Given the description of an element on the screen output the (x, y) to click on. 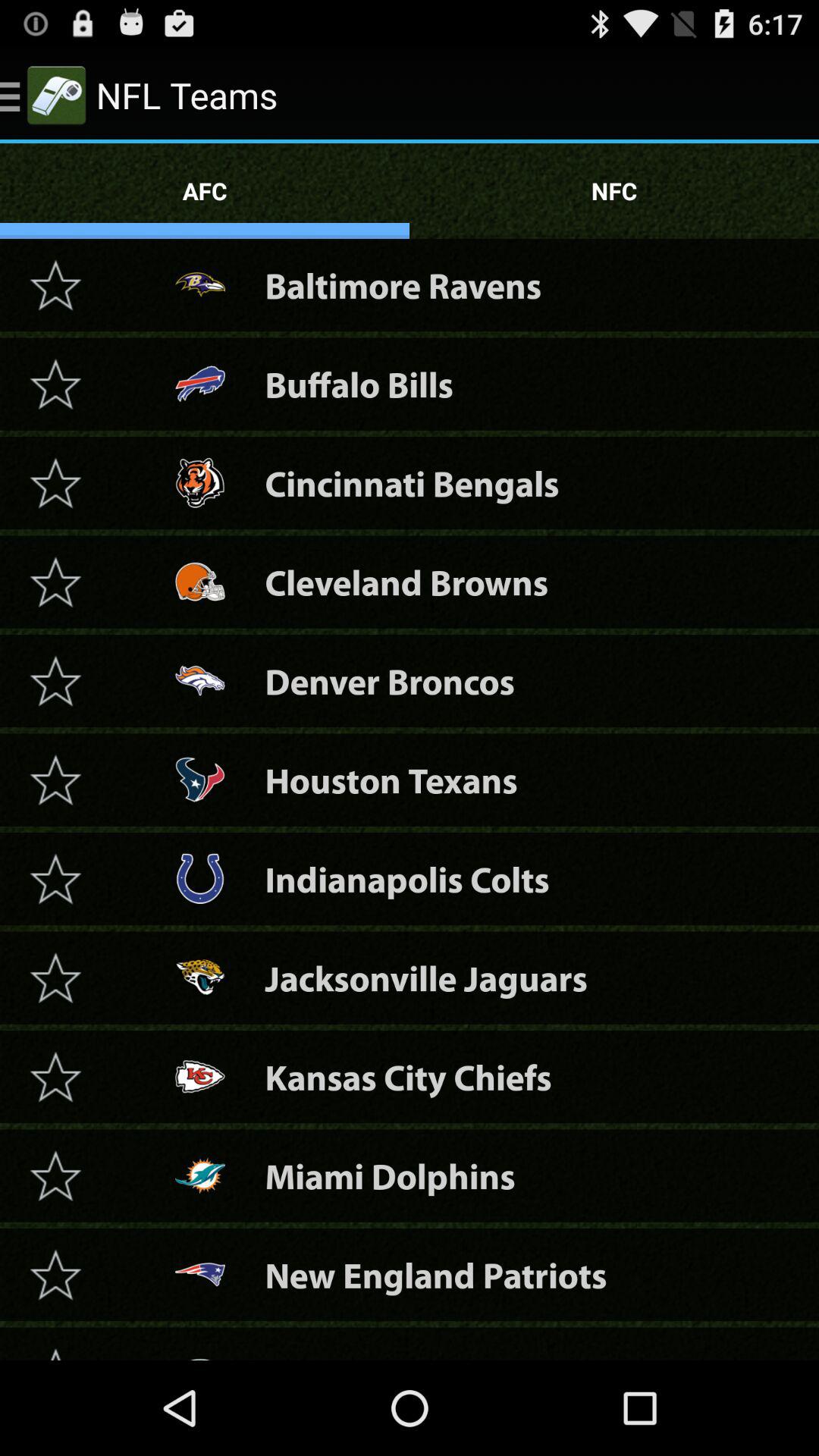
the arrow means if pressed it goes up (55, 1348)
